Given the description of an element on the screen output the (x, y) to click on. 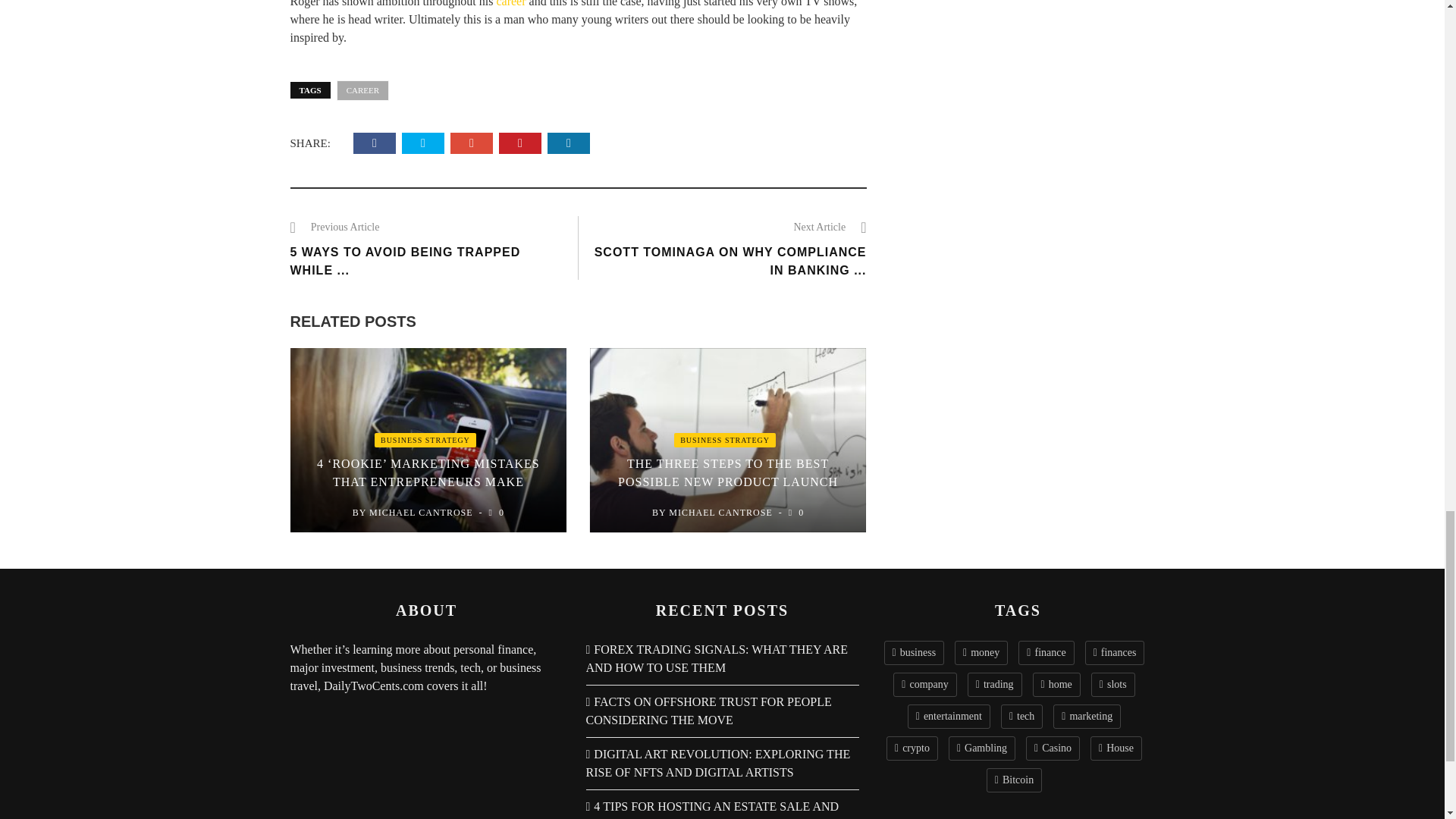
Posts by Michael Cantrose (720, 511)
5 WAYS TO AVOID BEING TRAPPED WHILE ... (404, 260)
career (510, 3)
View all posts tagged career (362, 90)
CAREER (362, 90)
Posts by Michael Cantrose (421, 511)
